Given the description of an element on the screen output the (x, y) to click on. 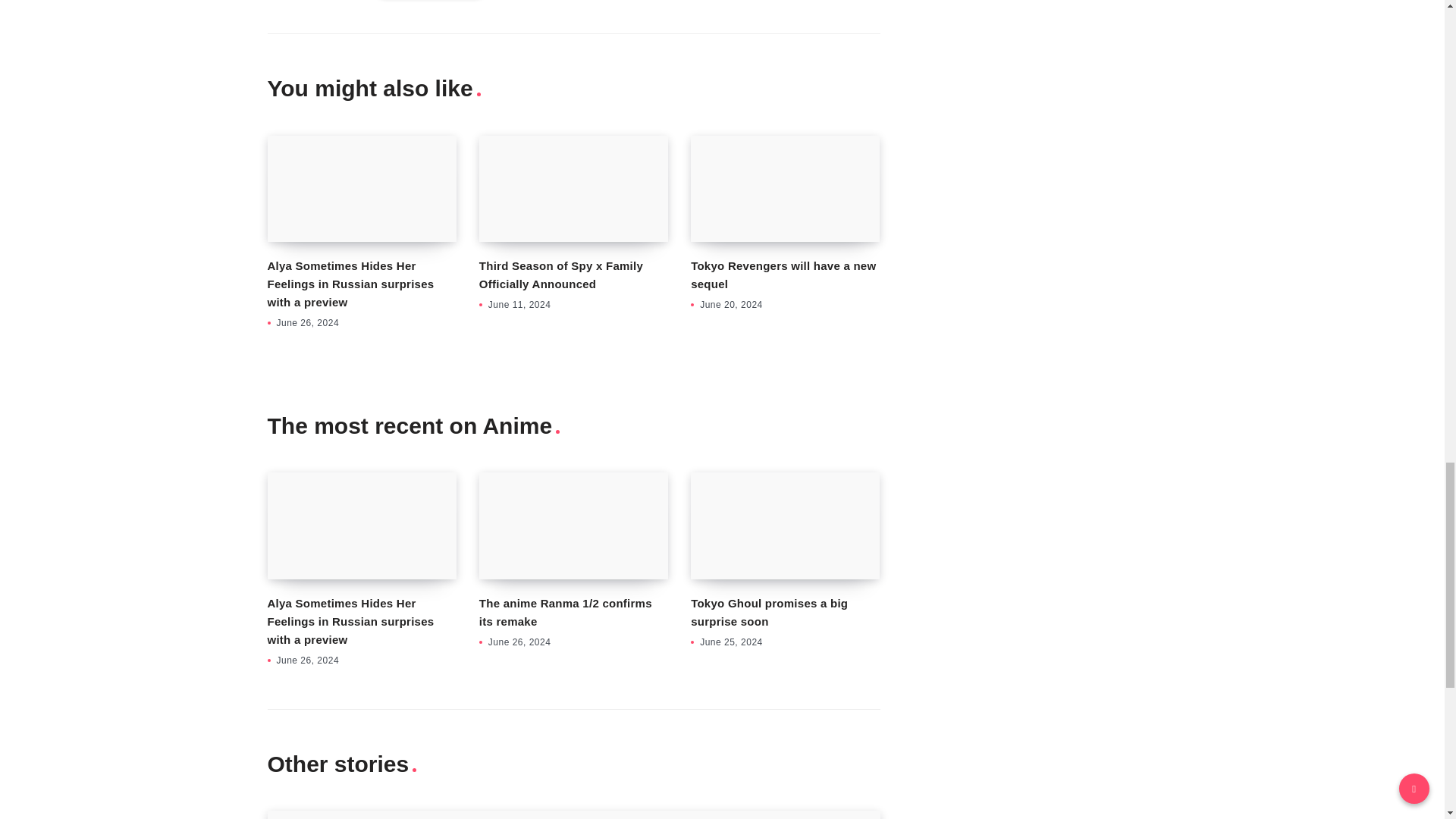
Tokyo Ghoul promises a big surprise soon (784, 525)
Tokyo Revengers will have a new sequel (783, 274)
Third Season of Spy x Family Officially Announced (561, 274)
Third Season of Spy x Family Officially Announced (573, 188)
Tokyo Revengers will have a new sequel (784, 188)
